Given the description of an element on the screen output the (x, y) to click on. 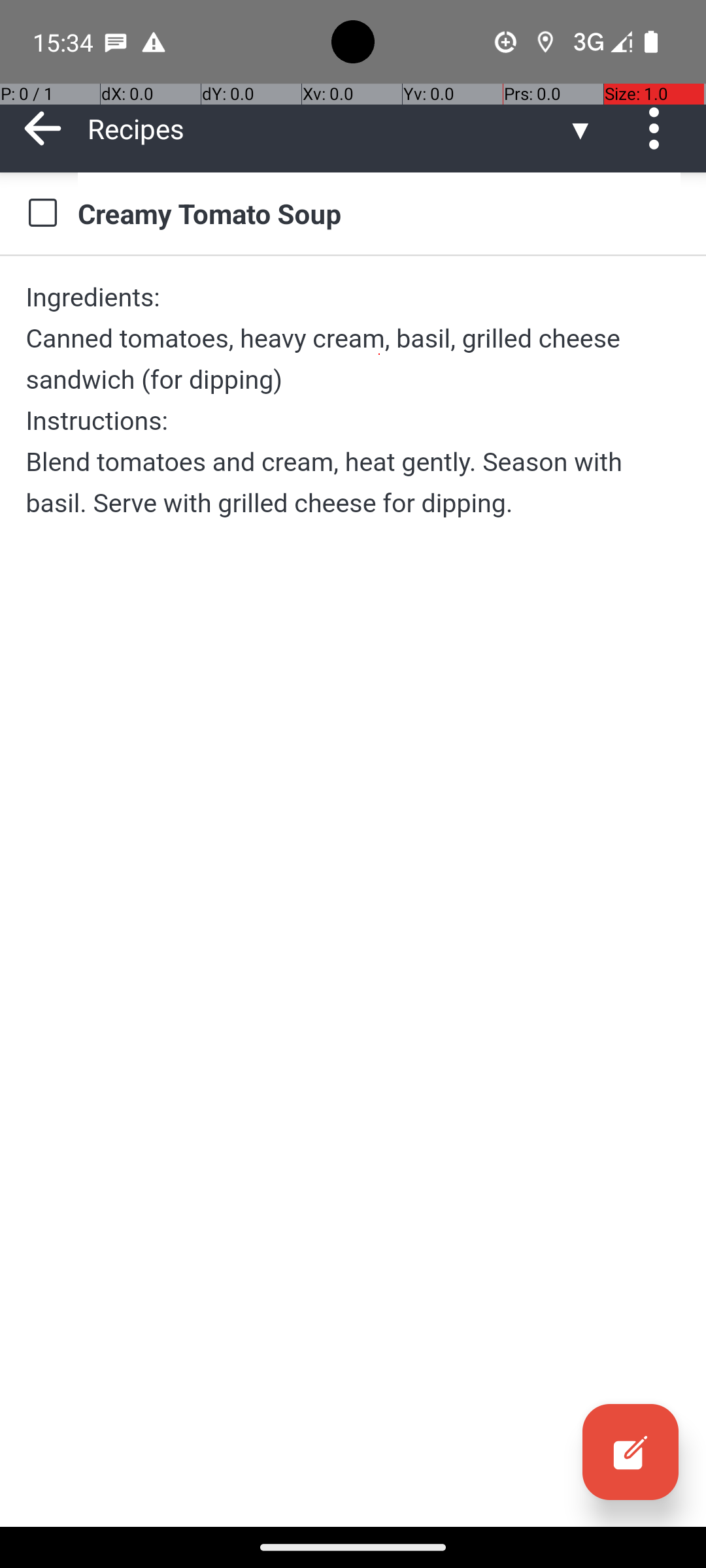
Creamy Tomato Soup Element type: android.widget.EditText (378, 213)
Edit, collapsed Element type: android.widget.Button (630, 1452)
Recipes Element type: android.widget.TextView (326, 128)
 Element type: android.widget.TextView (630, 1451)
Ingredients:
Canned tomatoes, heavy cream, basil, grilled cheese sandwich (for dipping)
Instructions:
Blend tomatoes and cream, heat gently. Season with basil. Serve with grilled cheese for dipping. Element type: android.widget.TextView (352, 399)
